Given the description of an element on the screen output the (x, y) to click on. 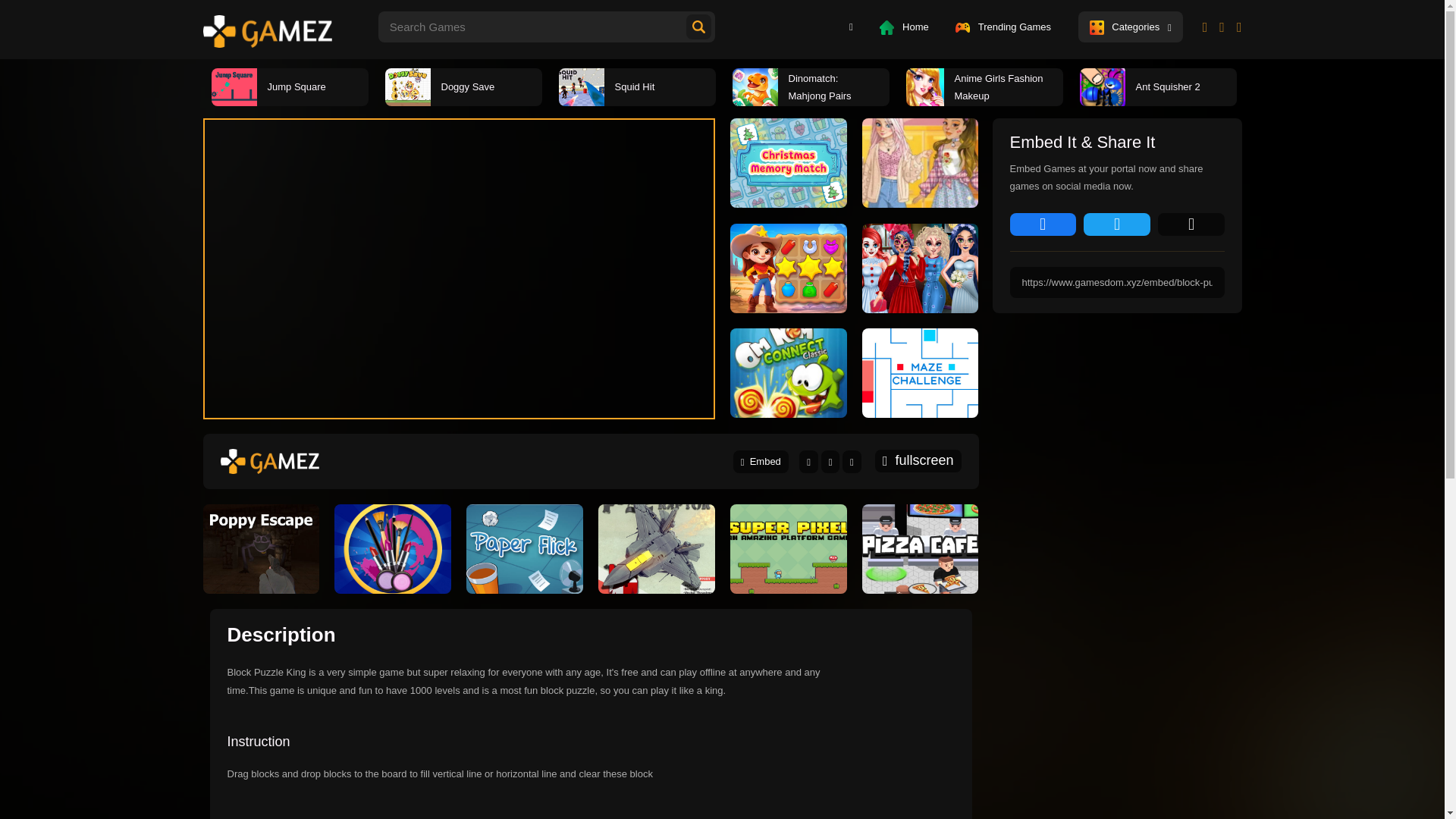
Squid Hit (635, 86)
Anime Girls Fashion Makeup (983, 86)
Jump Square (289, 86)
Jump Square (233, 86)
Ant Squisher 2 (1102, 86)
Ant Squisher 2 (1158, 86)
Doggy Save (463, 86)
Jump Square (289, 86)
Squid Hit (580, 86)
Dinomatch: Mahjong Pairs (810, 86)
Dinomatch: Mahjong Pairs (810, 86)
Home (903, 27)
Anime Girls Fashion Makeup  (983, 86)
Anime Girls Fashion Makeup  (924, 86)
